Given the description of an element on the screen output the (x, y) to click on. 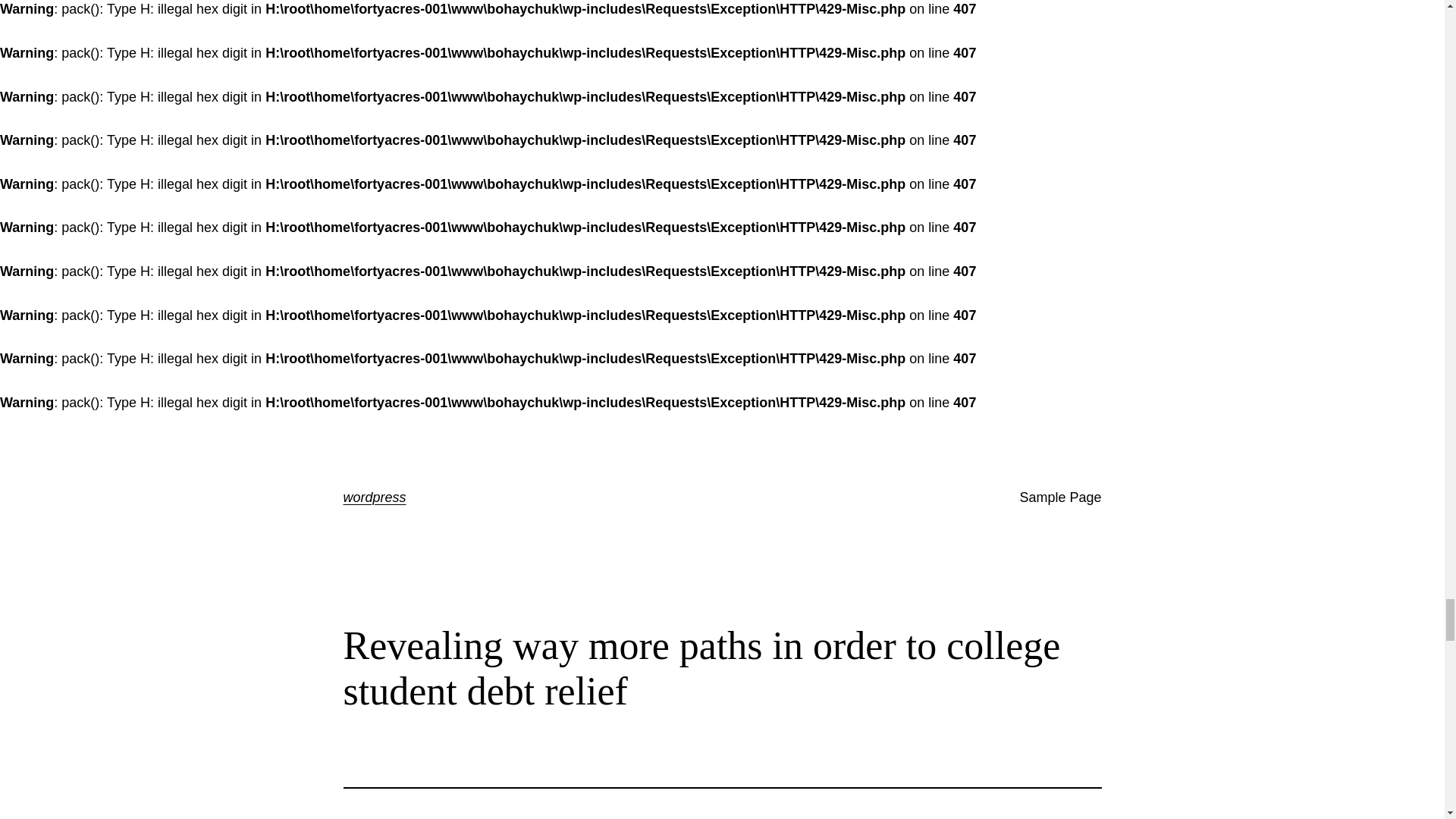
wordpress (374, 497)
Sample Page (1059, 497)
